Given the description of an element on the screen output the (x, y) to click on. 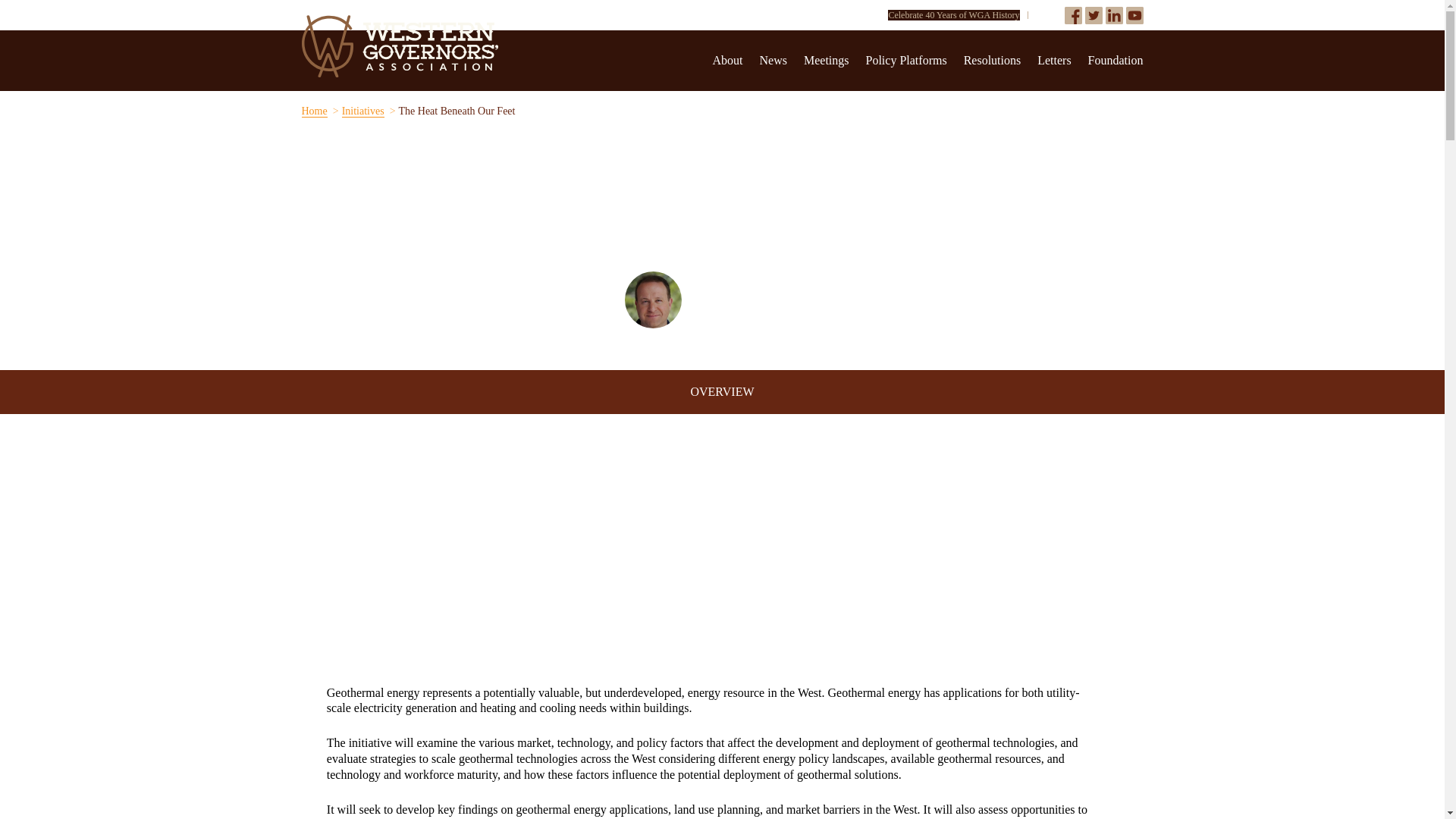
Celebrate 40 Years of WGA History (953, 15)
Meetings (825, 60)
About (727, 60)
Resolutions (992, 60)
Foundation (1114, 60)
Policy Platforms (906, 60)
Letters (1053, 60)
News (773, 60)
